Given the description of an element on the screen output the (x, y) to click on. 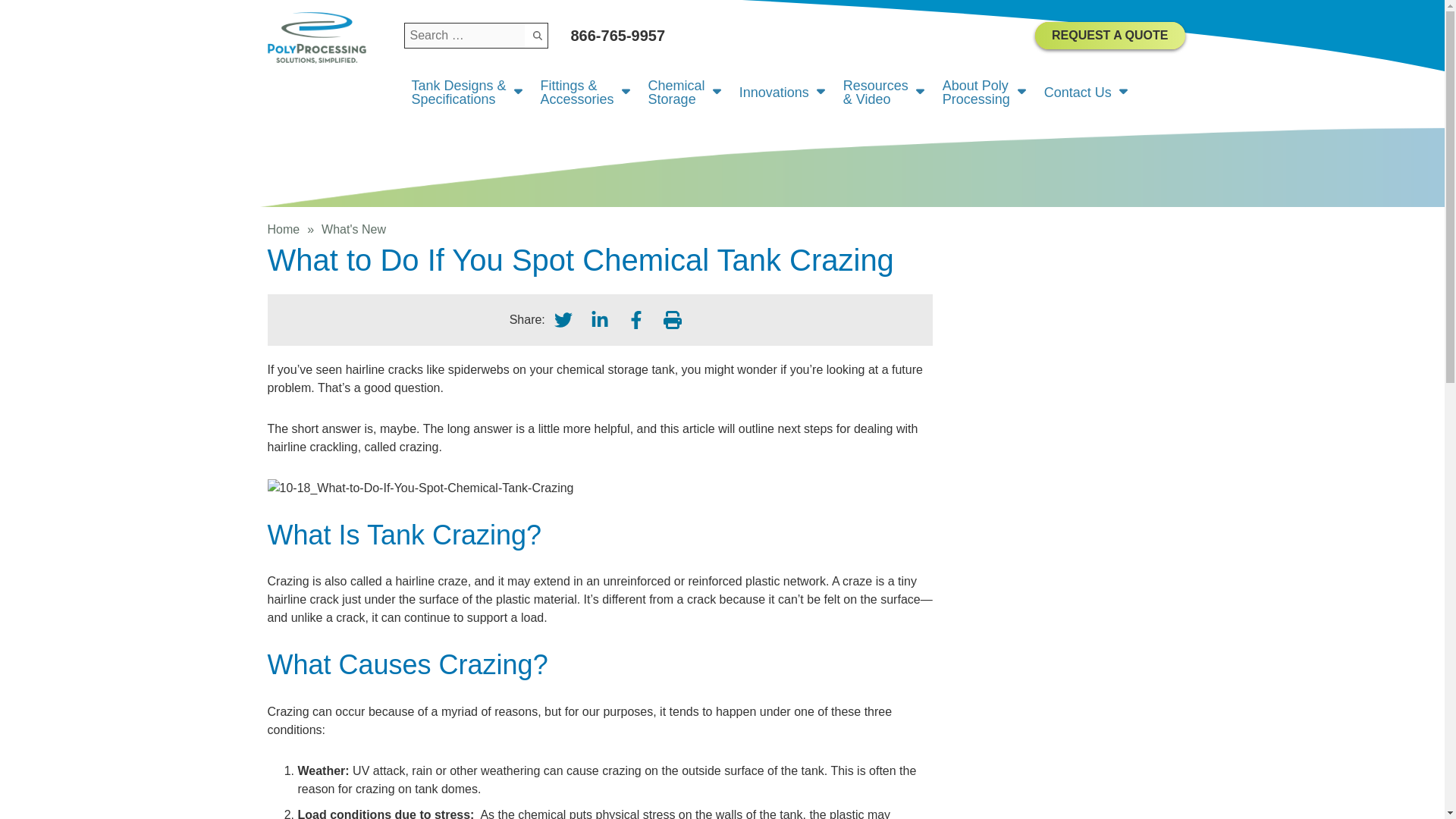
Share This Post on LinkedIn (598, 320)
866-765-9957 (790, 35)
Share This Post on Twitter (686, 92)
REQUEST A QUOTE (562, 320)
Poly Processing (1110, 35)
Print This Post (315, 37)
Share This Post on Facebook (671, 320)
